Given the description of an element on the screen output the (x, y) to click on. 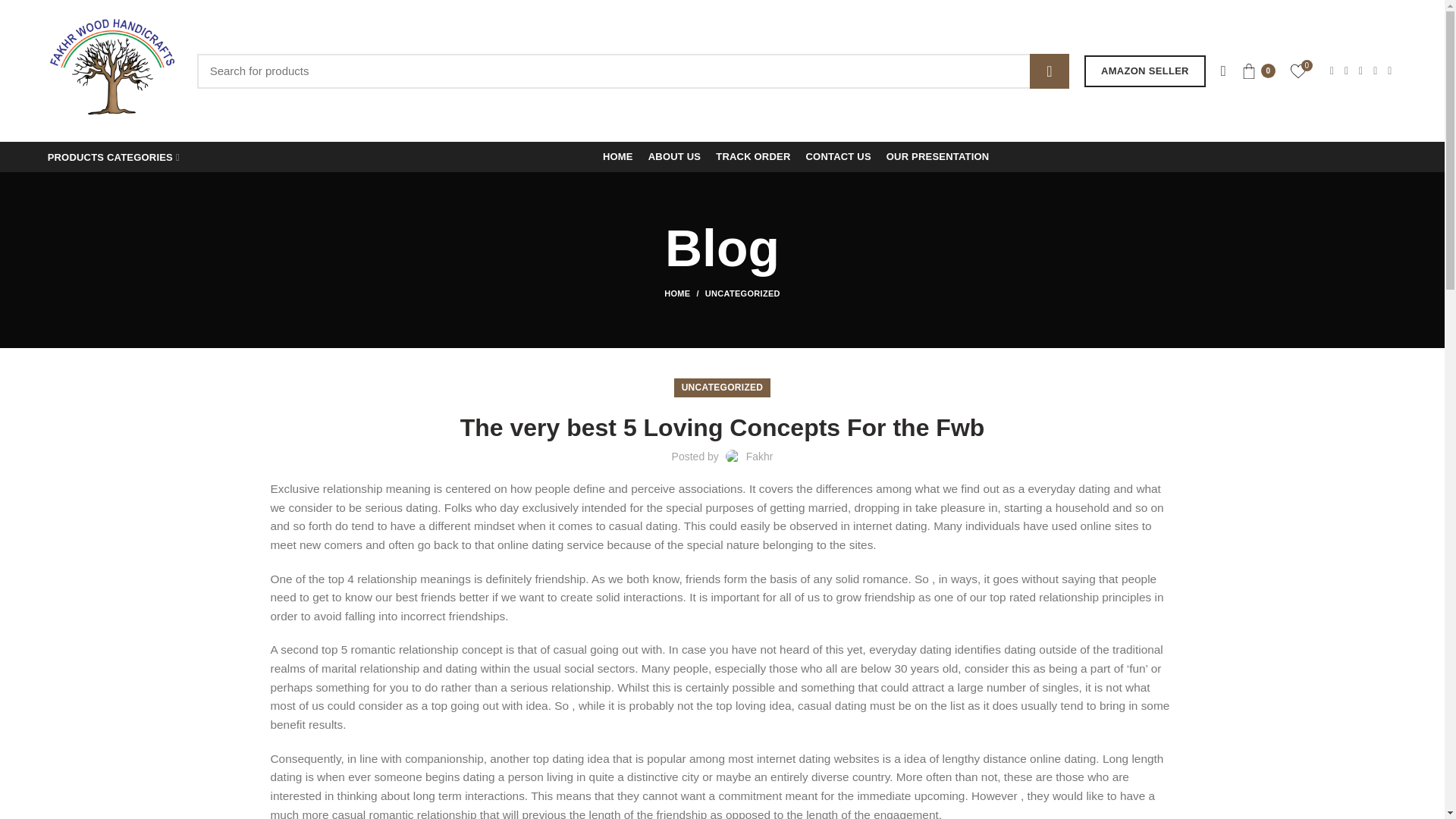
0 (1257, 71)
My Wishlist (1297, 71)
PRODUCTS CATEGORIES (113, 156)
AMAZON SELLER (1144, 70)
Shopping cart (1257, 71)
SEARCH (1048, 70)
0 (1297, 71)
